Given the description of an element on the screen output the (x, y) to click on. 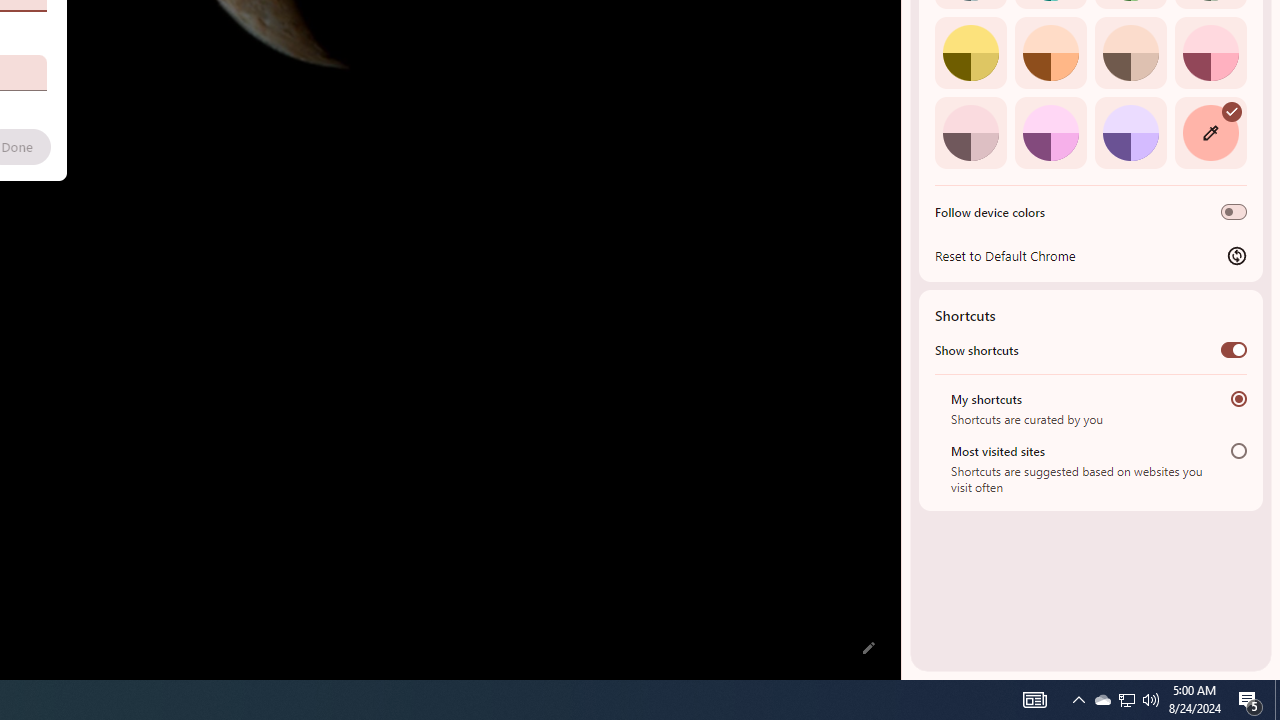
Violet (1130, 132)
